Given the description of an element on the screen output the (x, y) to click on. 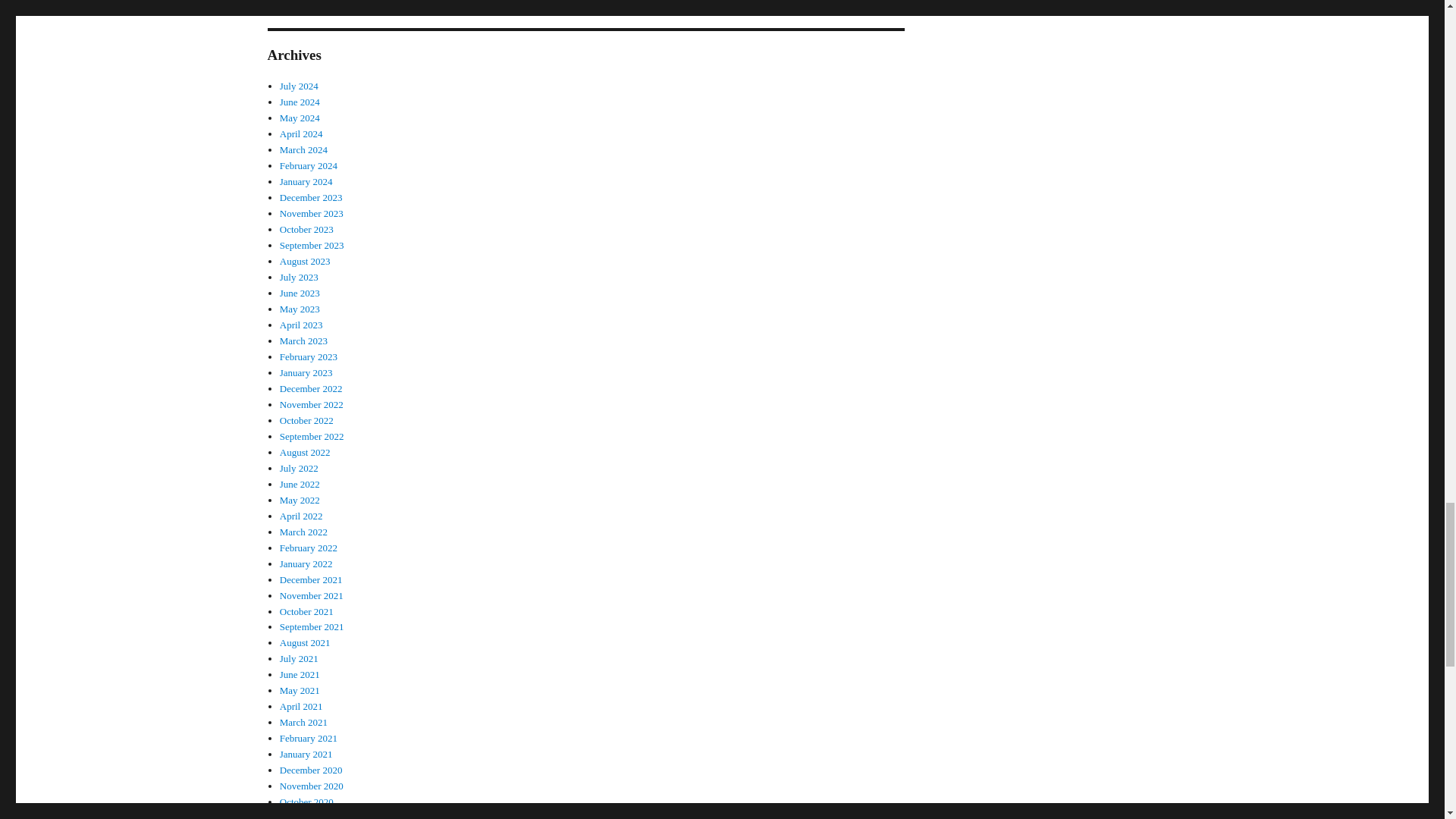
November 2022 (311, 404)
February 2023 (308, 356)
March 2024 (303, 149)
April 2023 (301, 324)
December 2022 (310, 388)
July 2023 (298, 276)
February 2024 (308, 165)
January 2024 (306, 181)
May 2023 (299, 308)
October 2023 (306, 229)
November 2023 (311, 213)
May 2024 (299, 117)
October 2022 (306, 419)
December 2023 (310, 197)
June 2023 (299, 292)
